Given the description of an element on the screen output the (x, y) to click on. 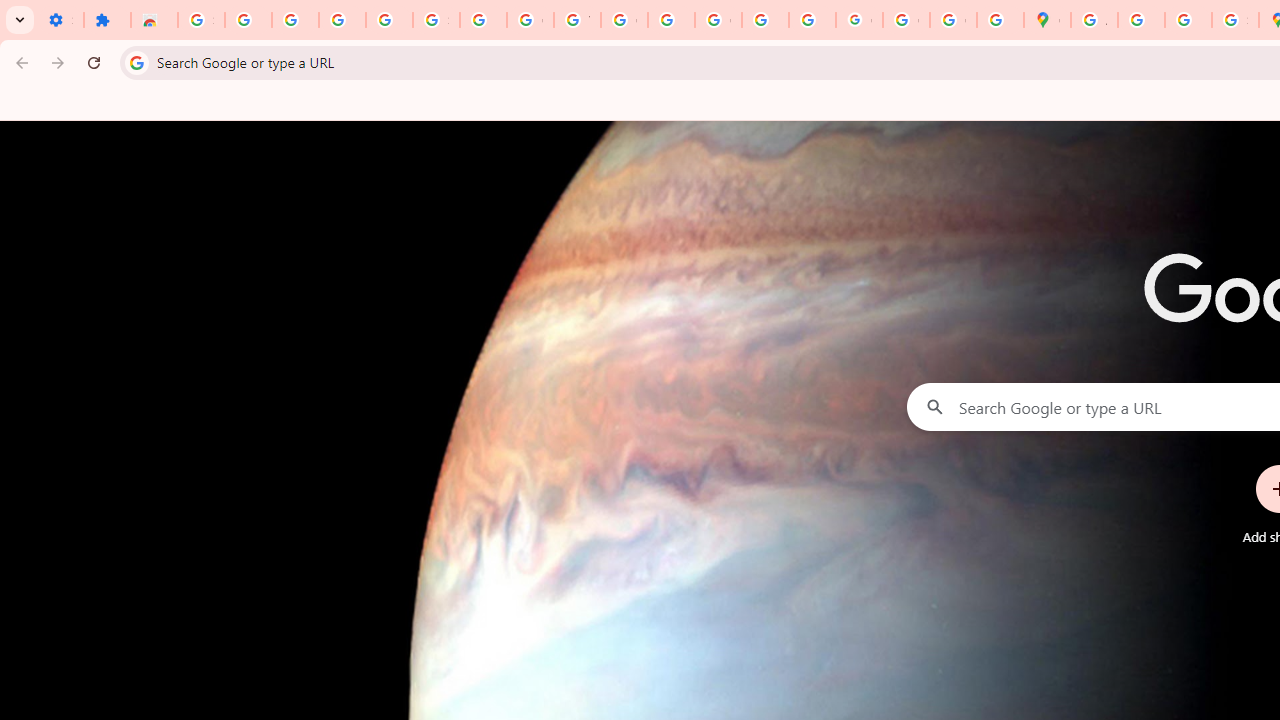
Reviews: Helix Fruit Jump Arcade Game (153, 20)
YouTube (577, 20)
Safety in Our Products - Google Safety Center (1235, 20)
Sign in - Google Accounts (201, 20)
Delete photos & videos - Computer - Google Photos Help (294, 20)
